Given the description of an element on the screen output the (x, y) to click on. 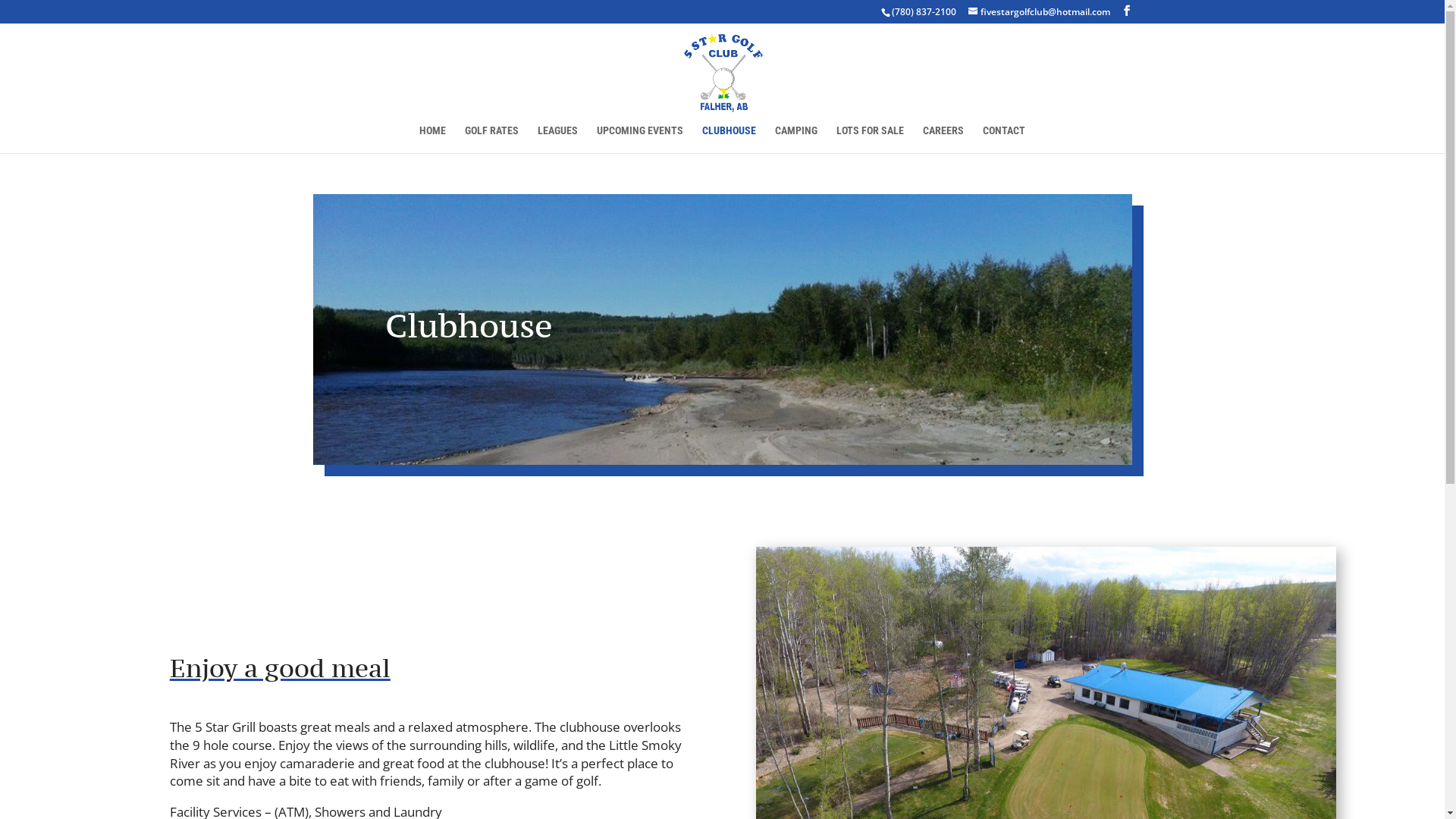
UPCOMING EVENTS Element type: text (639, 139)
LEAGUES Element type: text (557, 139)
CAMPING Element type: text (796, 139)
GOLF RATES Element type: text (491, 139)
LOTS FOR SALE Element type: text (869, 139)
fivestargolfclub@hotmail.com Element type: text (1038, 11)
HOME Element type: text (432, 139)
CAREERS Element type: text (942, 139)
CONTACT Element type: text (1003, 139)
(780) 837-2100 Element type: text (923, 11)
CLUBHOUSE Element type: text (729, 139)
